Given the description of an element on the screen output the (x, y) to click on. 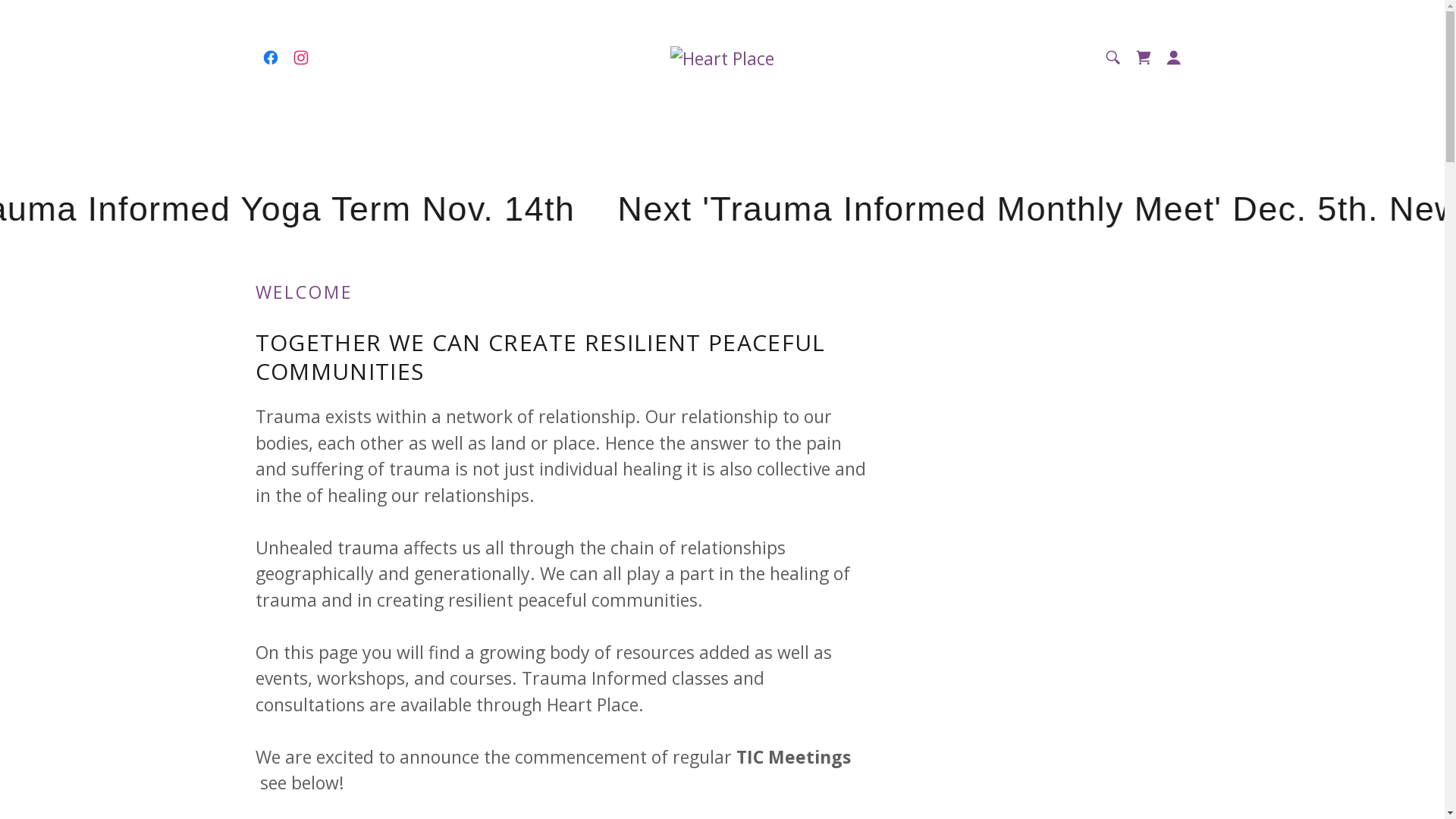
Heart Place Element type: hover (722, 56)
